Given the description of an element on the screen output the (x, y) to click on. 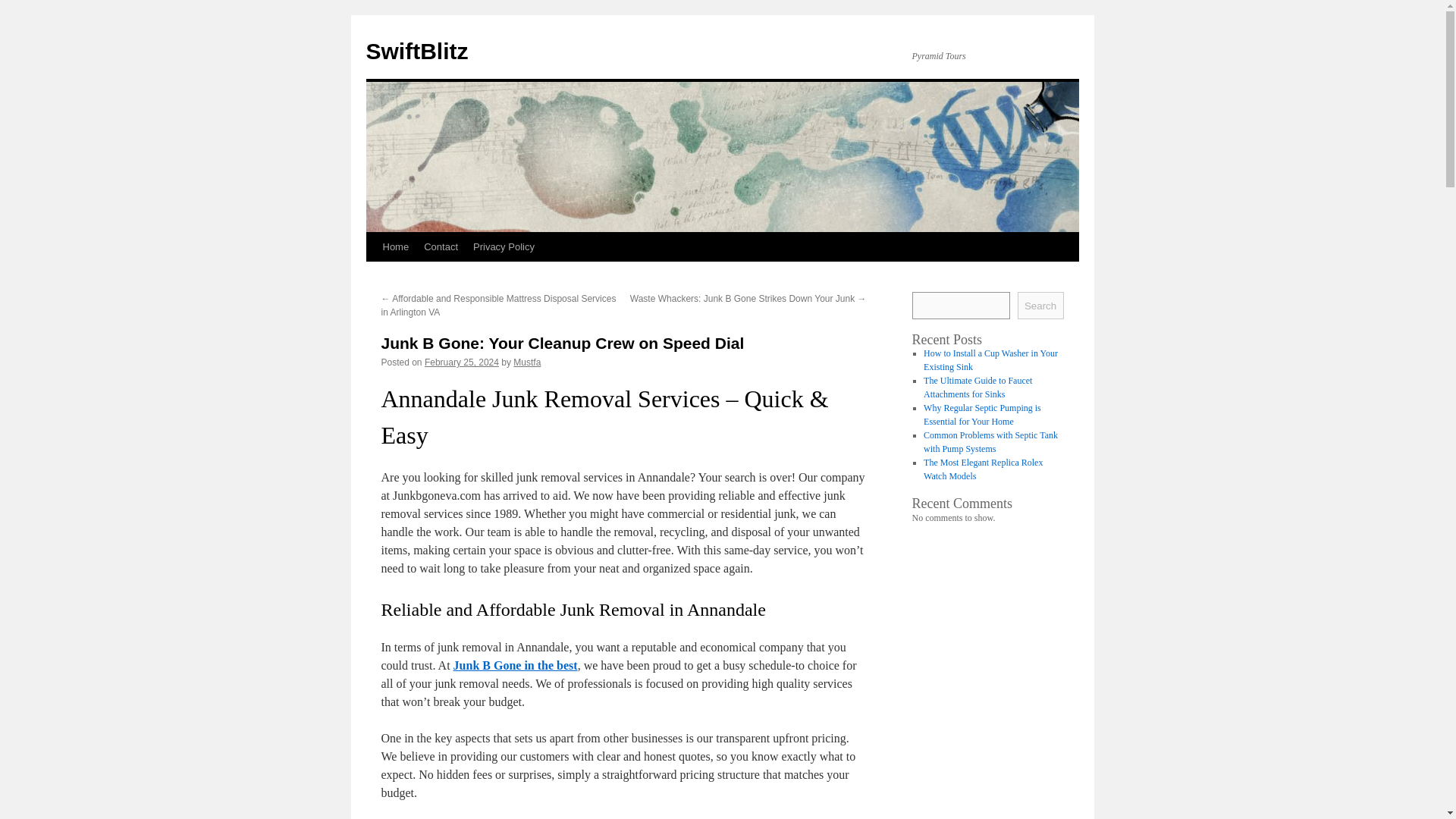
Why Regular Septic Pumping is Essential for Your Home (982, 414)
Privacy Policy (503, 246)
The Most Elegant Replica Rolex Watch Models (982, 469)
February 25, 2024 (462, 362)
Common Problems with Septic Tank with Pump Systems (990, 441)
SwiftBlitz (416, 50)
Junk B Gone in the best (515, 665)
The Ultimate Guide to Faucet Attachments for Sinks (977, 387)
How to Install a Cup Washer in Your Existing Sink (990, 360)
View all posts by Mustfa (526, 362)
Home (395, 246)
Contact (440, 246)
7:58 pm (462, 362)
Mustfa (526, 362)
Search (1040, 305)
